Given the description of an element on the screen output the (x, y) to click on. 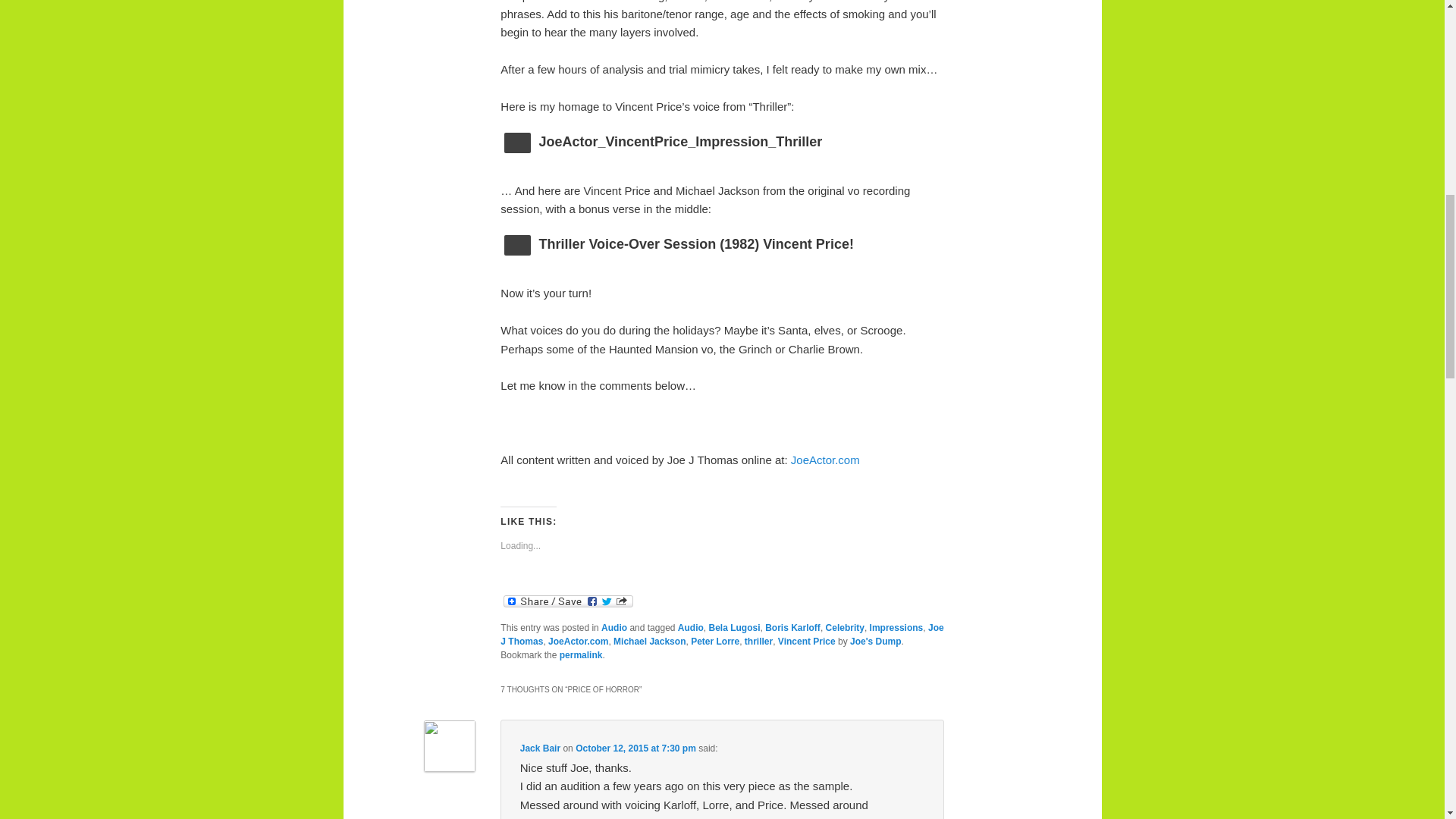
Audio (690, 627)
Bela Lugosi (733, 627)
Impressions (896, 627)
Boris Karloff (793, 627)
Michael Jackson (648, 641)
JoeActor.com (825, 459)
Permalink to Price of Horror (580, 655)
Peter Lorre (714, 641)
Celebrity (844, 627)
Audio (614, 627)
Joe's Dump (875, 641)
permalink (580, 655)
Joe J Thomas (721, 634)
Vincent Price (806, 641)
thriller (758, 641)
